Given the description of an element on the screen output the (x, y) to click on. 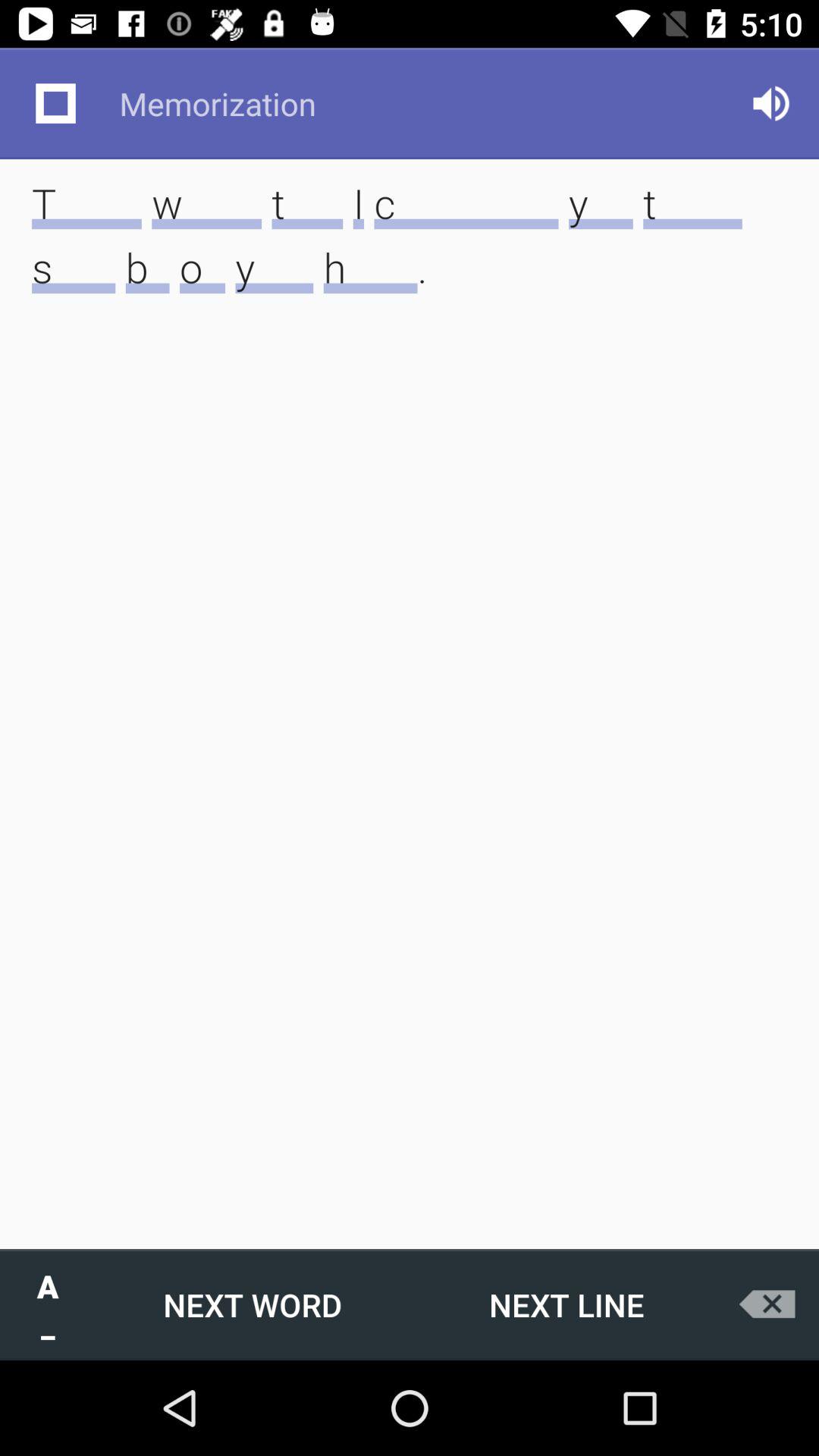
launch the these words that item (409, 258)
